Given the description of an element on the screen output the (x, y) to click on. 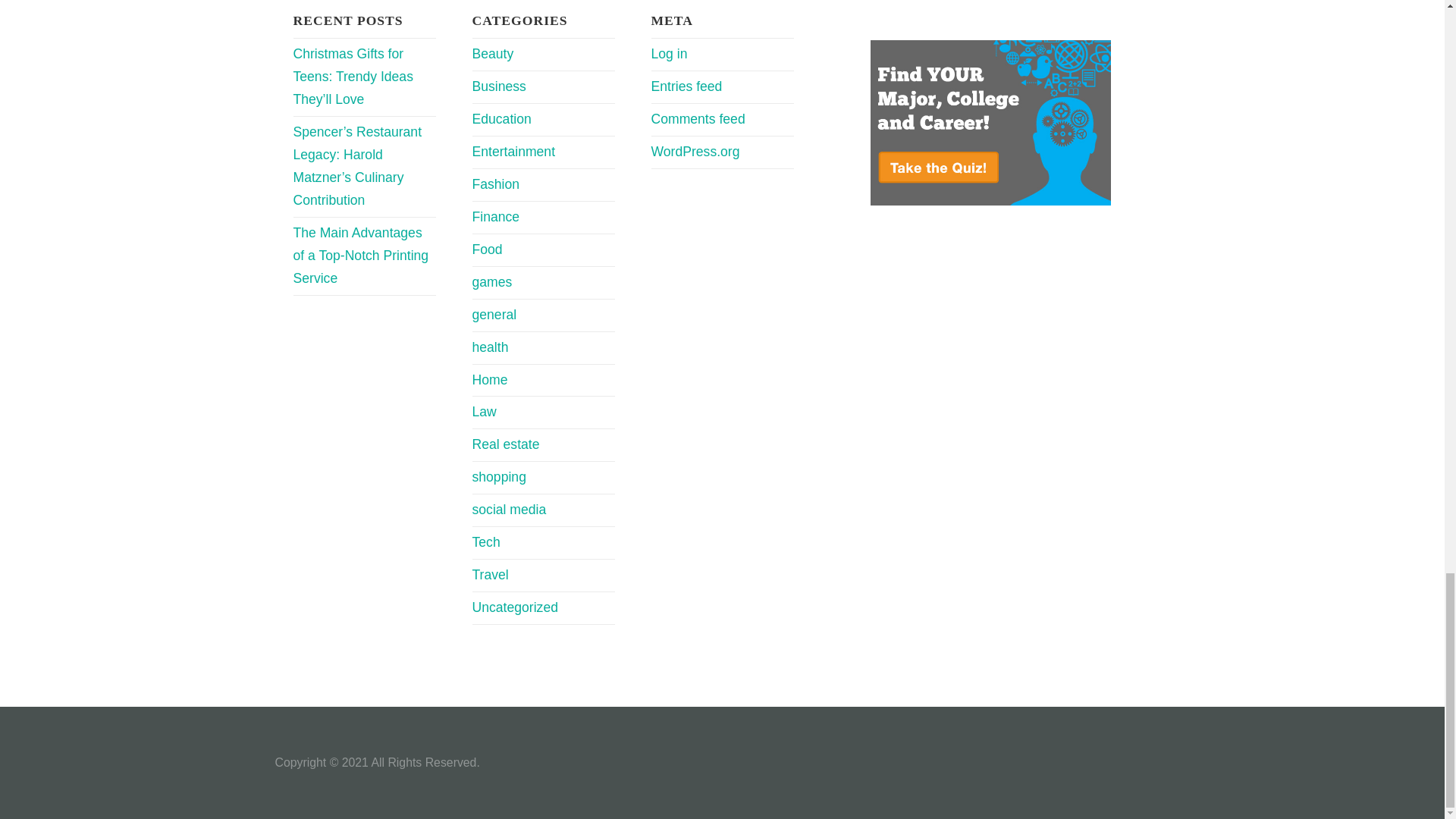
shopping (498, 476)
games (491, 281)
Uncategorized (514, 607)
Real estate (504, 444)
Law (483, 411)
Entertainment (512, 151)
Tech (485, 541)
Home (488, 379)
health (489, 346)
WordPress.org (694, 151)
